Given the description of an element on the screen output the (x, y) to click on. 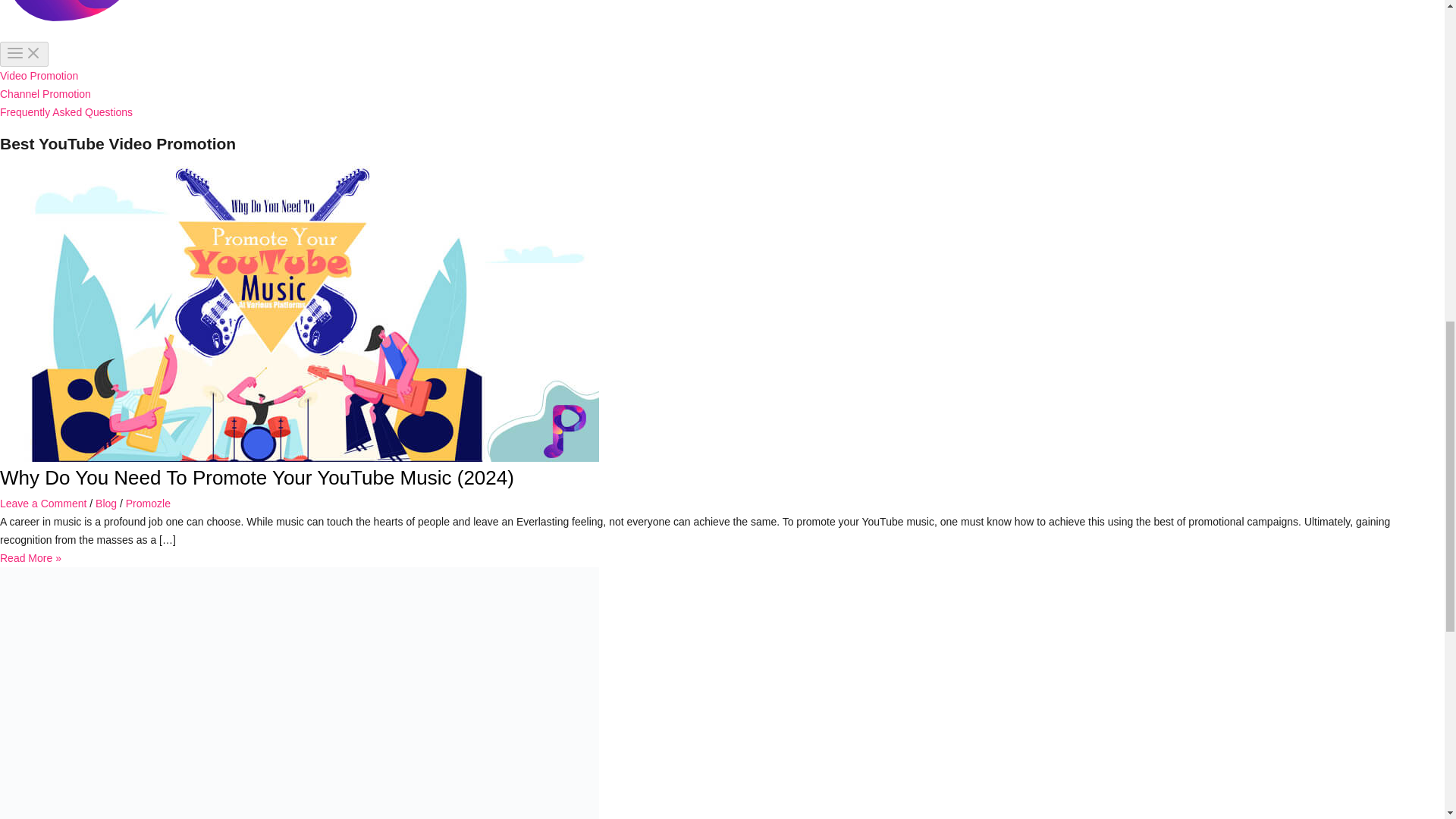
Channel Promotion (45, 93)
Leave a Comment (42, 503)
Blog (106, 503)
Frequently Asked Questions (66, 111)
Video Promotion (39, 75)
Main Menu (24, 53)
View all posts by Promozle (147, 503)
Promozle (147, 503)
